Given the description of an element on the screen output the (x, y) to click on. 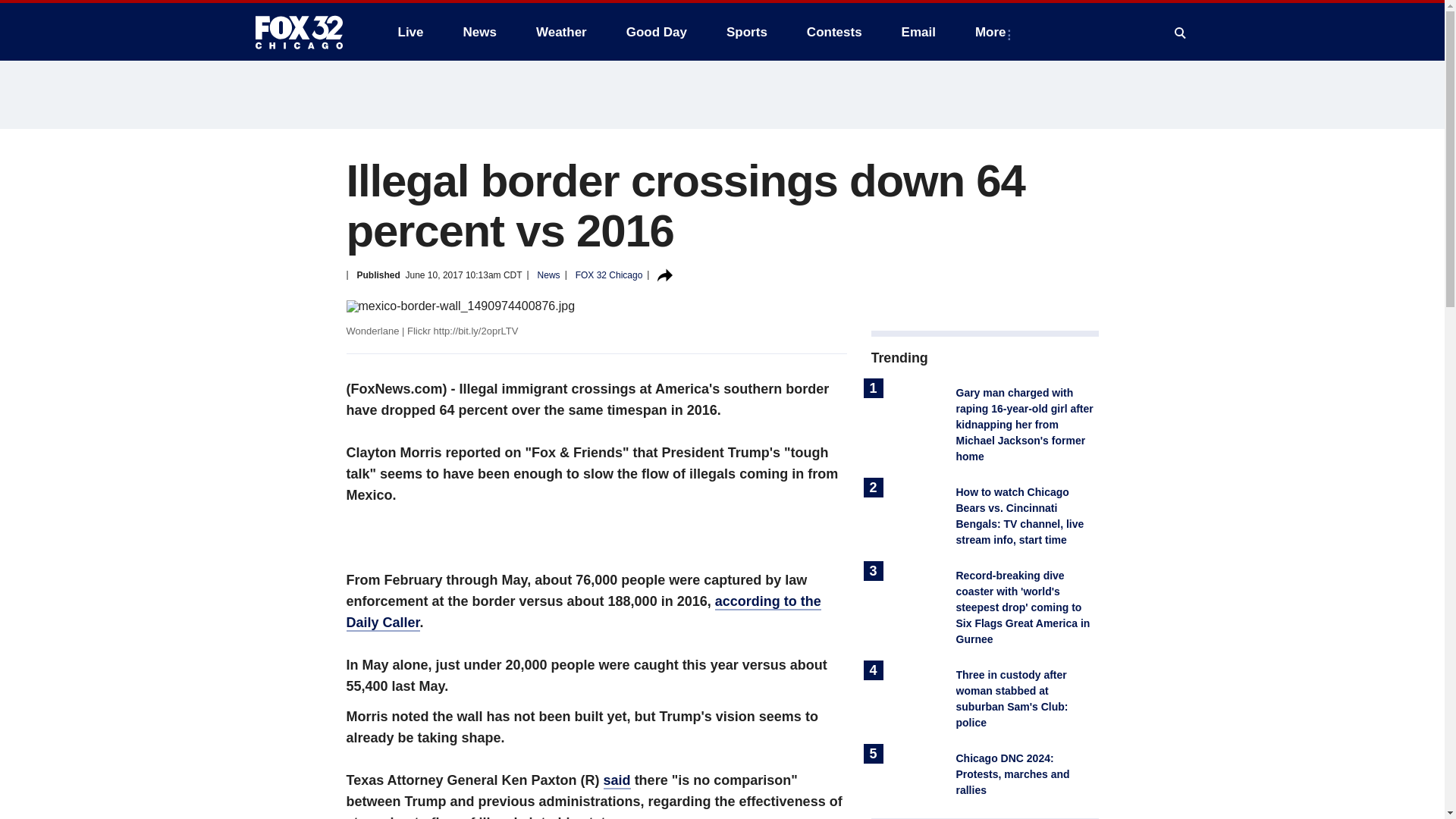
More (993, 32)
Email (918, 32)
Contests (834, 32)
Good Day (656, 32)
Live (410, 32)
News (479, 32)
Weather (561, 32)
Sports (746, 32)
